Given the description of an element on the screen output the (x, y) to click on. 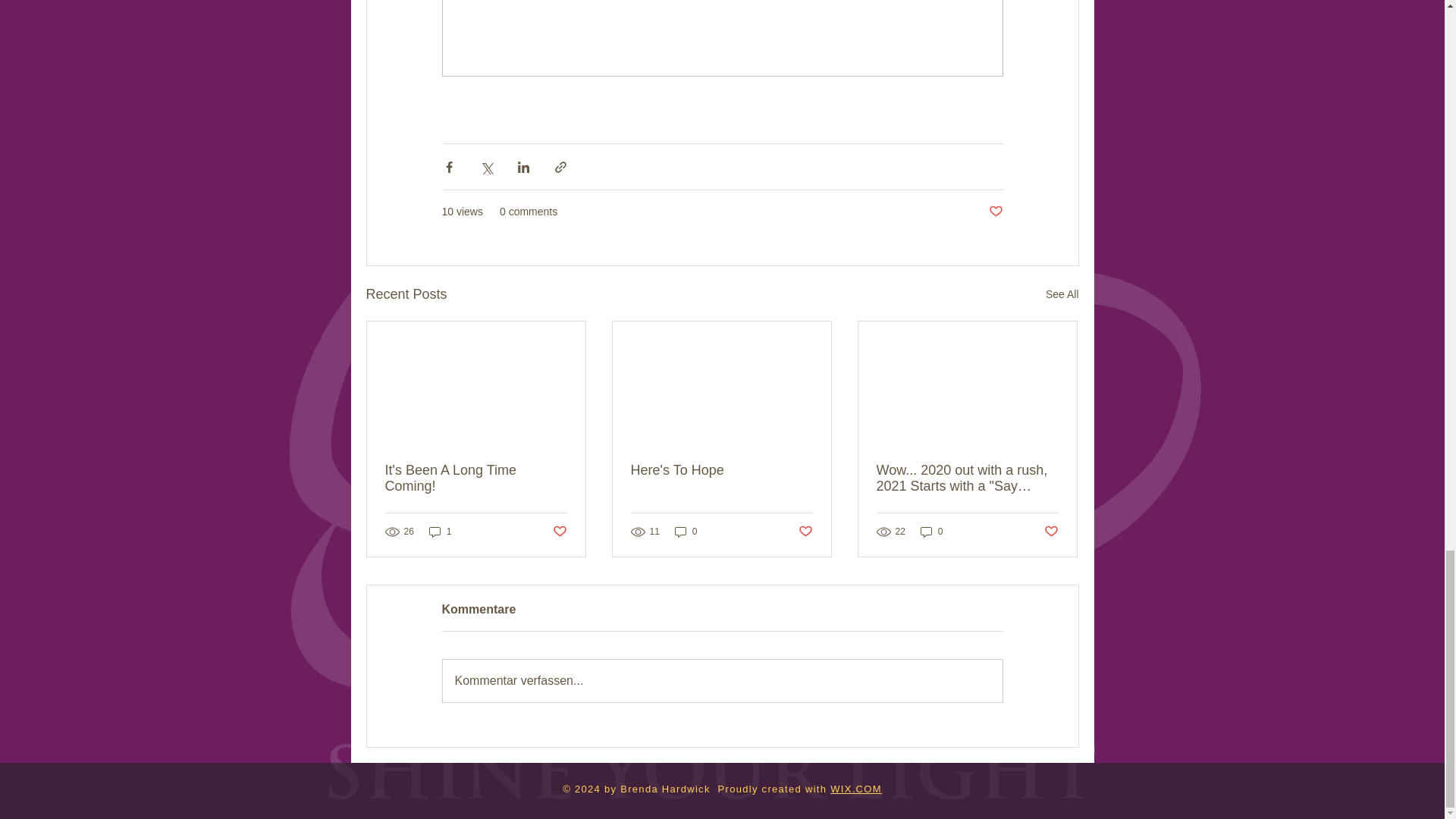
1 (440, 531)
Kommentar verfassen... (722, 680)
See All (1061, 294)
0 (685, 531)
Post not marked as liked (804, 531)
Wow... 2020 out with a rush, 2021 Starts with a "Say What?" (967, 478)
WIX.COM (855, 788)
0 (931, 531)
It's Been A Long Time Coming! (476, 478)
Here's To Hope (721, 470)
Post not marked as liked (1050, 531)
Post not marked as liked (995, 211)
Post not marked as liked (558, 531)
